Given the description of an element on the screen output the (x, y) to click on. 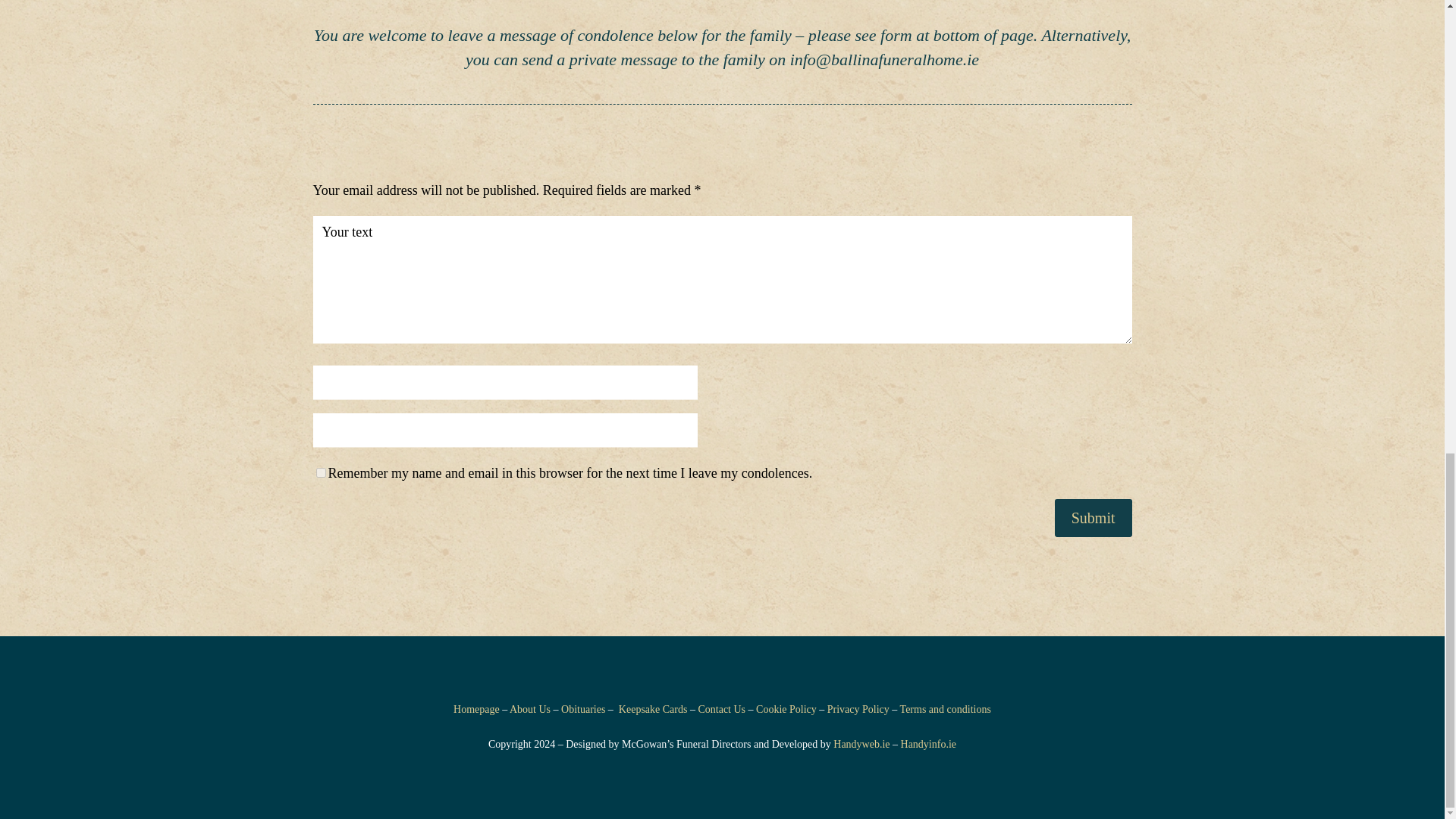
Privacy Policy (858, 708)
Submit (1093, 517)
Web Design by Handyweb (860, 744)
Cookie Policy (785, 708)
Handyweb.ie (860, 744)
Handyinfo.ie (928, 744)
Contact Us (721, 708)
Obituaries (582, 708)
yes (319, 472)
Homepage (475, 708)
Terms and conditions (945, 708)
Keepsake Cards (652, 708)
About Us (529, 708)
